Given the description of an element on the screen output the (x, y) to click on. 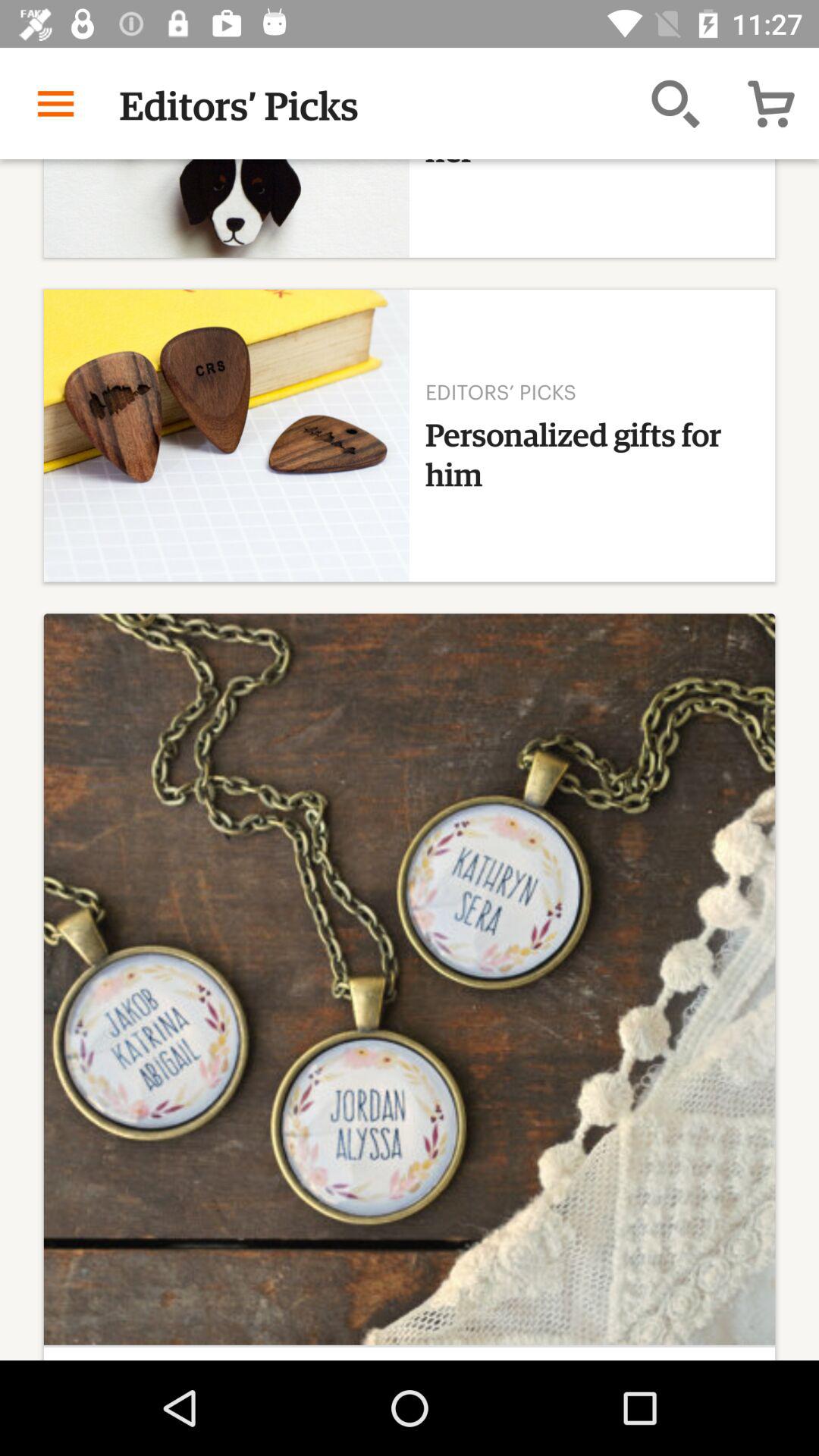
select the search button which is left to the cart (675, 103)
click the dog which is at the top of the image (226, 207)
select the last image (409, 985)
select the last image below the menu bar (409, 978)
click the image beside the editors picks (226, 434)
